Given the description of an element on the screen output the (x, y) to click on. 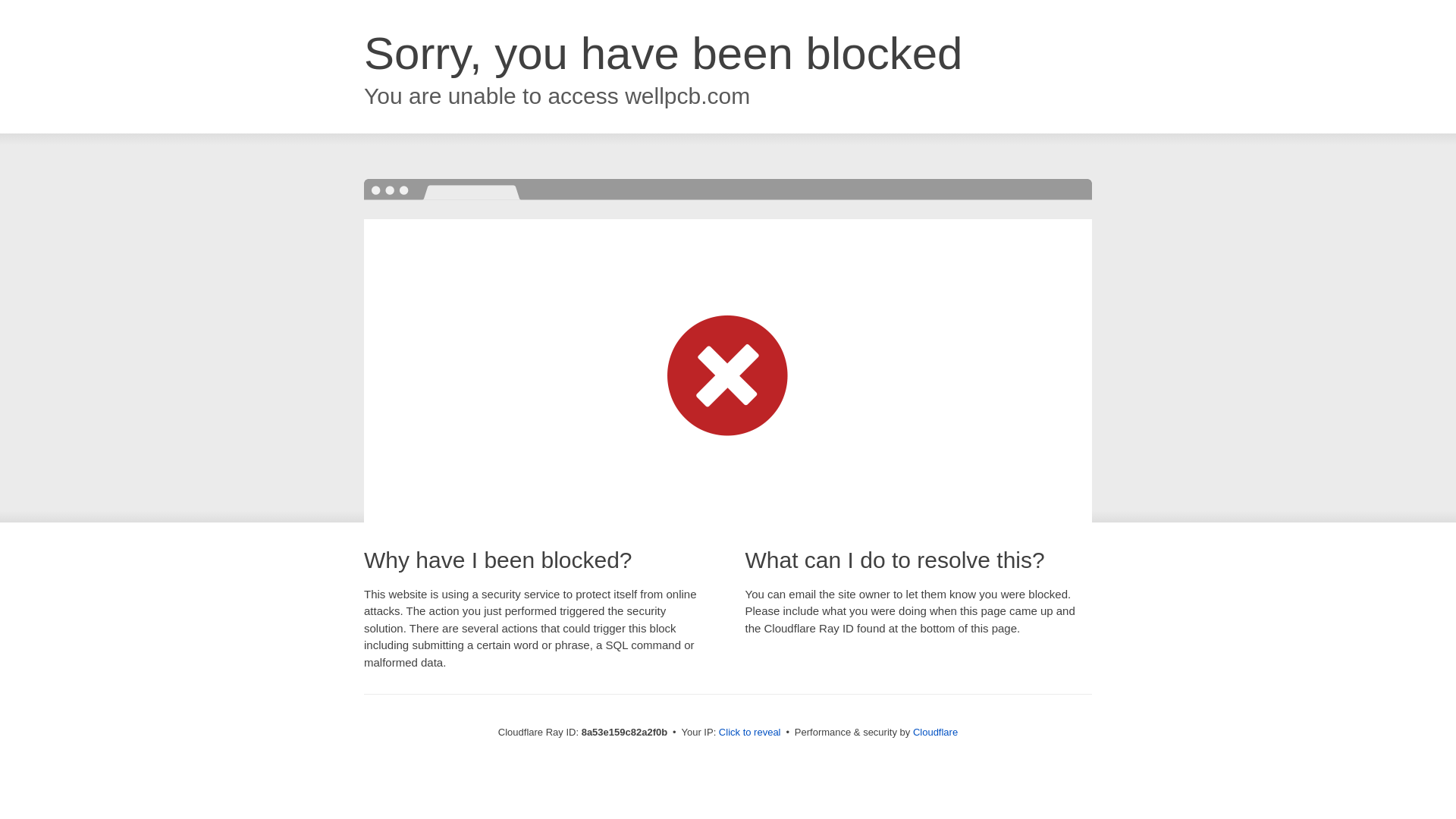
Click to reveal (749, 732)
Cloudflare (935, 731)
